Given the description of an element on the screen output the (x, y) to click on. 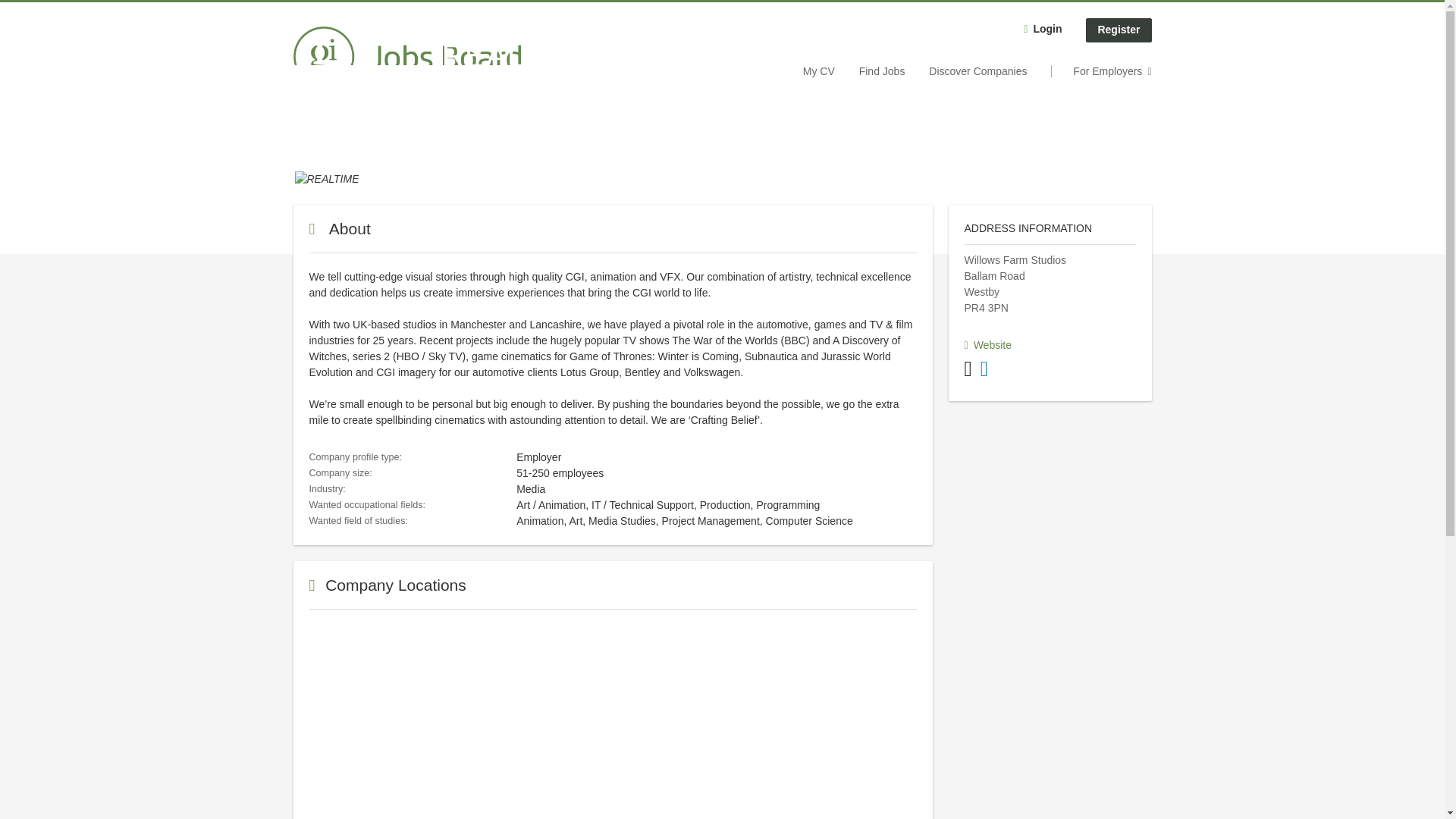
For Employers (1101, 70)
Login (1042, 30)
My CV (818, 70)
GamesIndustry.biz (405, 55)
Discover Companies (977, 70)
Website (987, 345)
Register (1118, 30)
REALTIME (326, 179)
Find Jobs (882, 70)
REALTIME (326, 177)
